Given the description of an element on the screen output the (x, y) to click on. 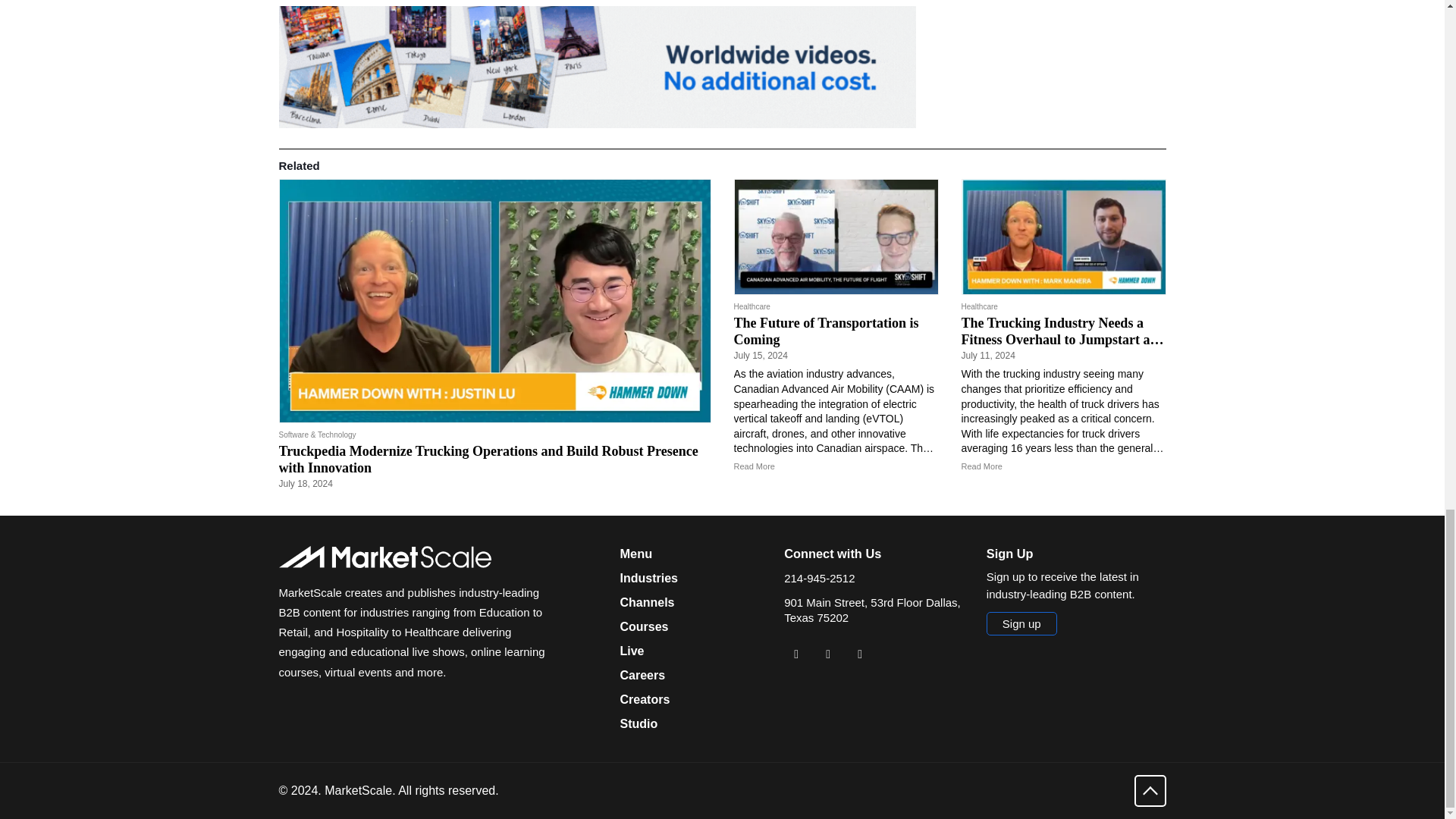
Share on Linkedin (796, 654)
Share on X (827, 654)
Share on Instagram (859, 654)
